Given the description of an element on the screen output the (x, y) to click on. 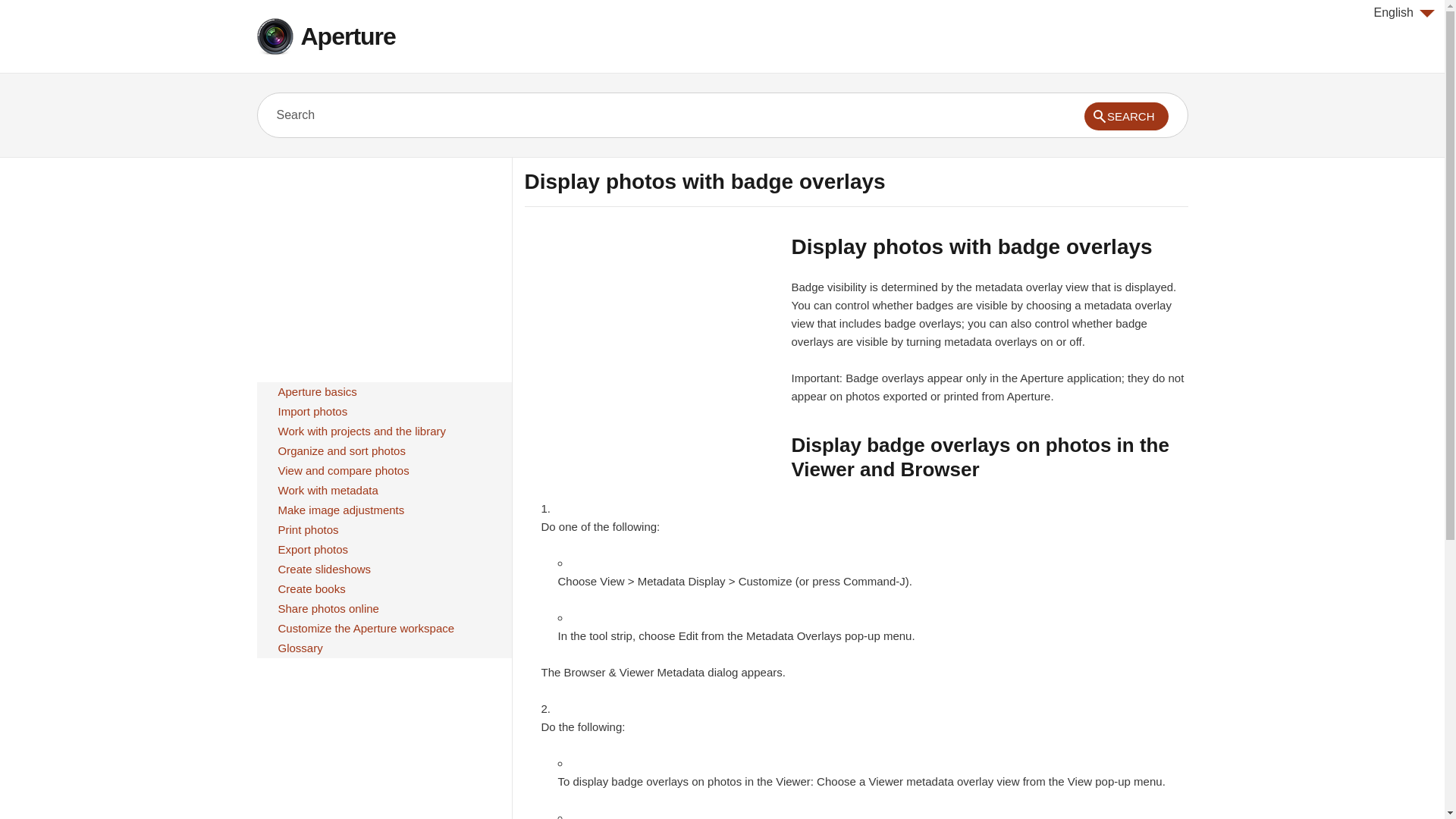
Aperture basics (317, 392)
Advertisement (383, 264)
Advertisement (651, 340)
SEARCH (1126, 116)
Aperture (346, 35)
Search (629, 115)
Aperture (346, 35)
